Given the description of an element on the screen output the (x, y) to click on. 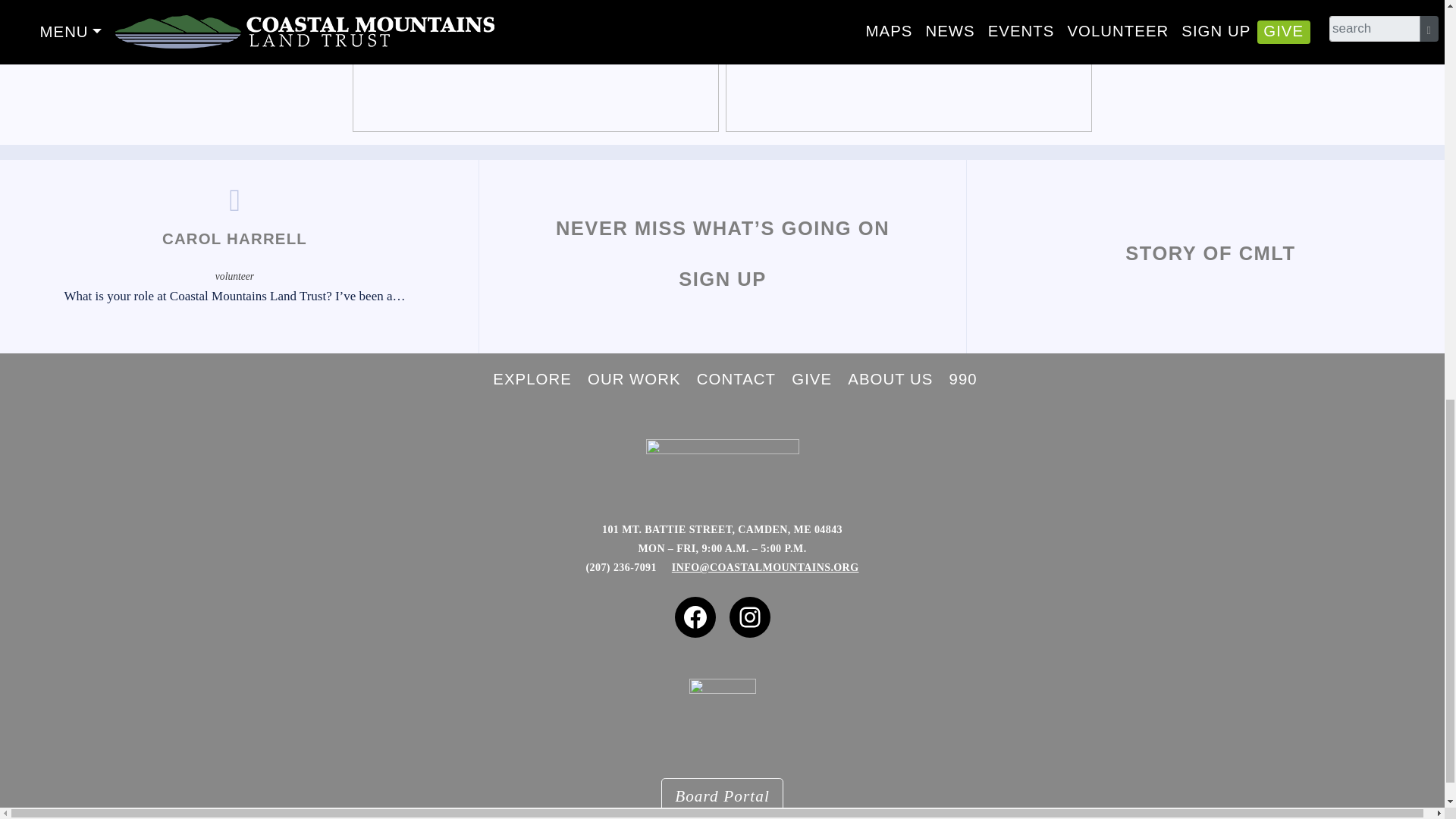
CONTACT (735, 379)
SIGN UP (722, 282)
STORY OF CMLT (1210, 255)
GIVE (812, 379)
EXPLORE (532, 379)
OUR WORK (633, 379)
CAROL HARRELL (234, 242)
